Given the description of an element on the screen output the (x, y) to click on. 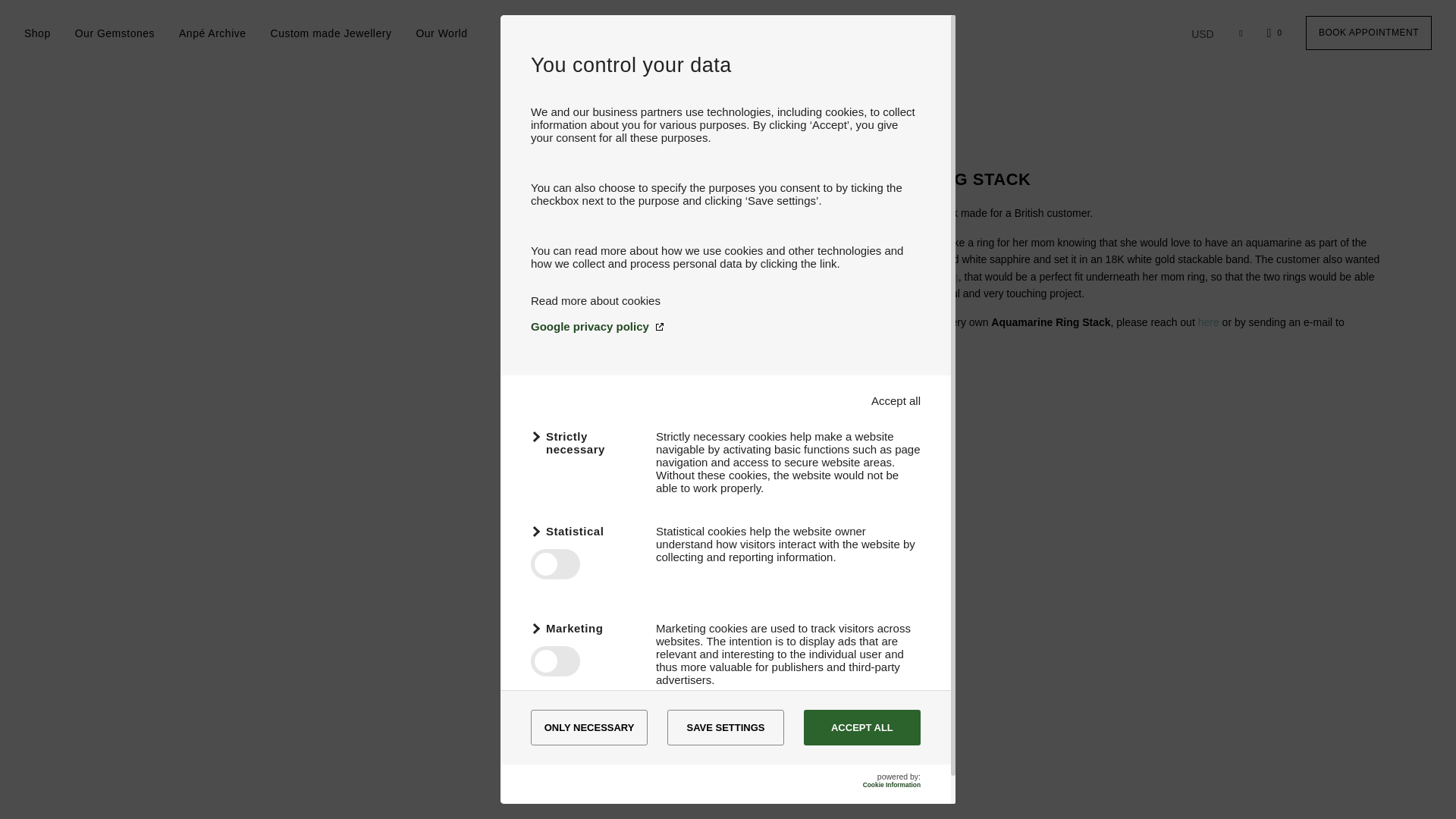
ONLY NECESSARY (589, 727)
SAVE SETTINGS (725, 727)
Accept all (895, 400)
Marketing (584, 628)
ACCEPT ALL (861, 727)
Google privacy policy (725, 326)
Statistical (584, 530)
Strictly necessary (584, 442)
Cookie Information (891, 784)
Read more about cookies (596, 300)
